Given the description of an element on the screen output the (x, y) to click on. 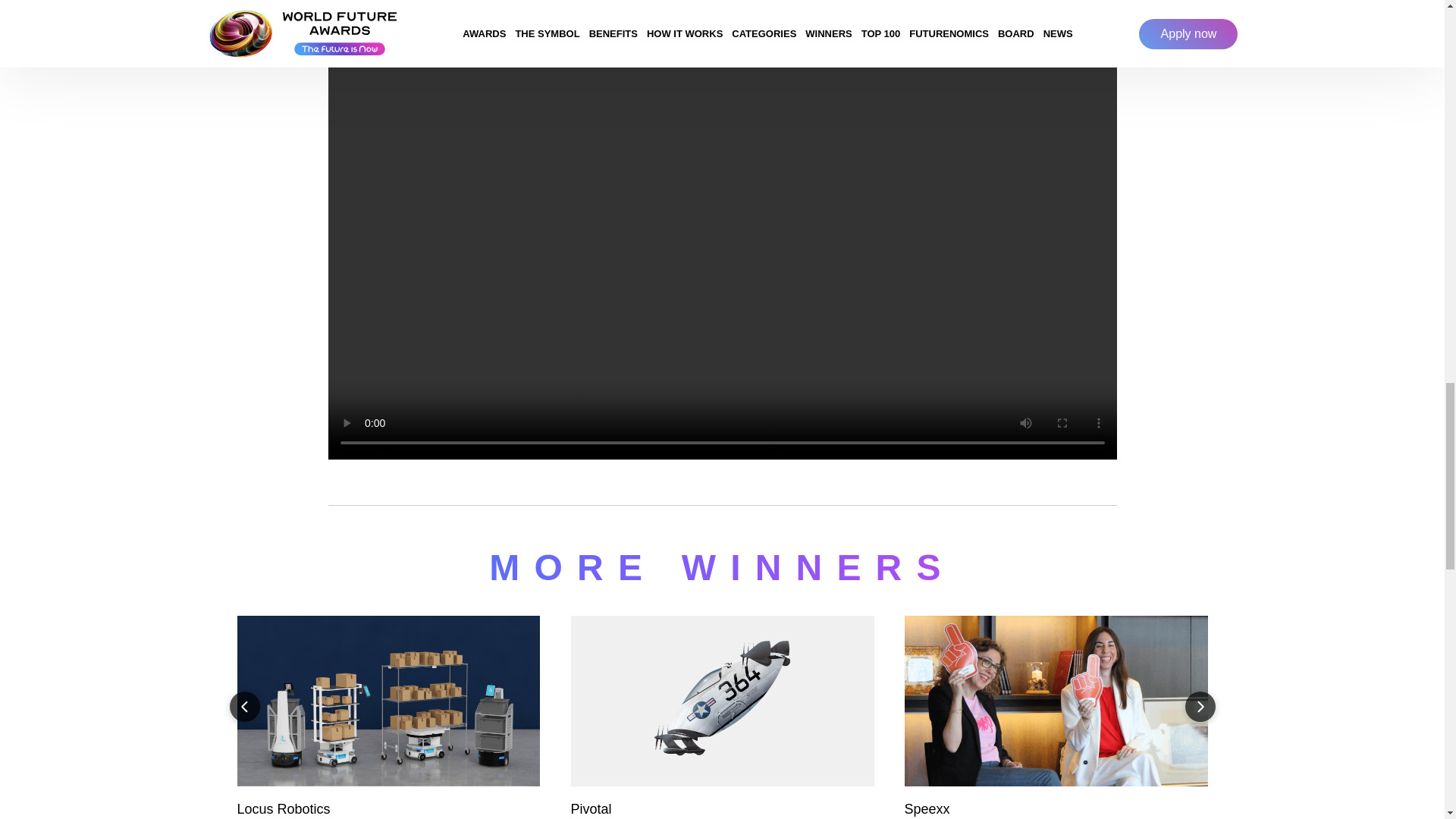
Pivotal (721, 717)
Previous (243, 706)
Locus Robotics (387, 717)
Speexx (1055, 717)
